Given the description of an element on the screen output the (x, y) to click on. 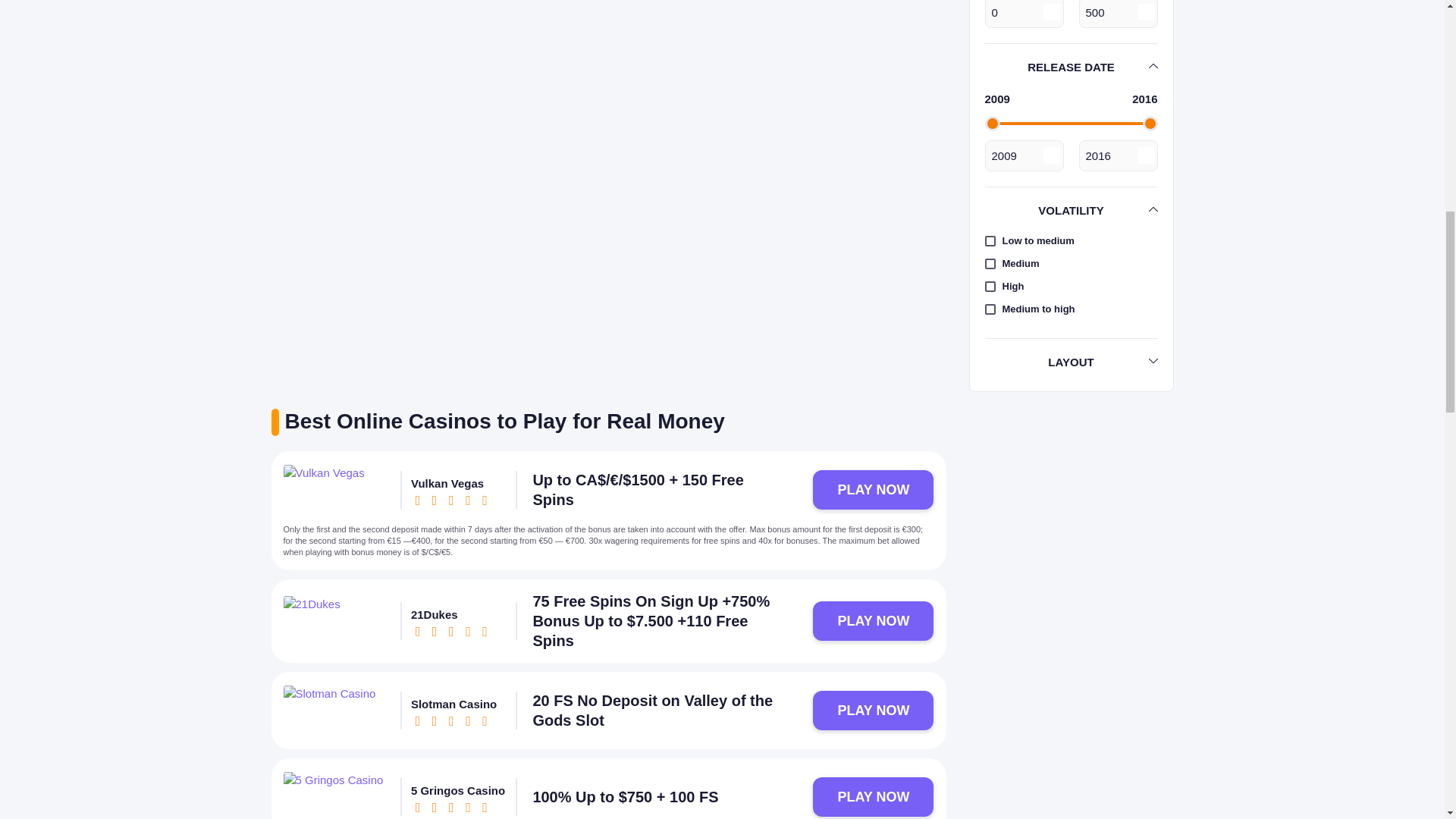
0 (1023, 13)
2016 (1117, 155)
500 (1117, 13)
2009 (1023, 155)
